Given the description of an element on the screen output the (x, y) to click on. 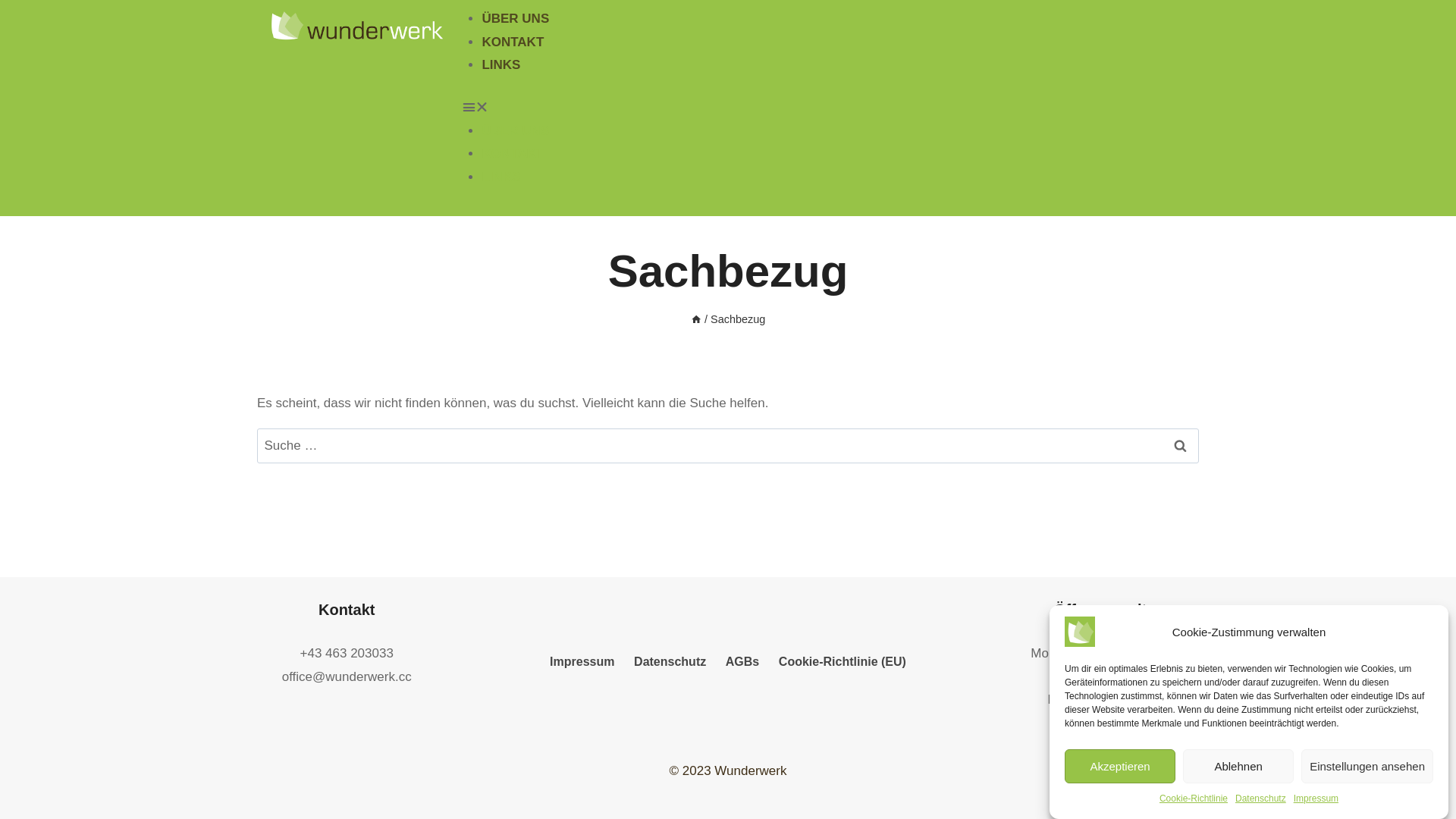
Cookie-Richtlinie Element type: text (1193, 798)
AGBs Element type: text (741, 661)
Akzeptieren Element type: text (1119, 766)
Datenschutz Element type: text (1260, 798)
Home Element type: hover (695, 319)
Ablehnen Element type: text (1238, 766)
Impressum Element type: text (1315, 798)
Suche Element type: text (1179, 445)
Impressum Element type: text (581, 661)
LINKS Element type: text (500, 64)
LINKS Element type: text (500, 176)
KONTAKT Element type: text (512, 41)
Datenschutz Element type: text (669, 661)
KONTAKT Element type: text (512, 153)
Cookie-Richtlinie (EU) Element type: text (842, 661)
Einstellungen ansehen Element type: text (1367, 766)
